Given the description of an element on the screen output the (x, y) to click on. 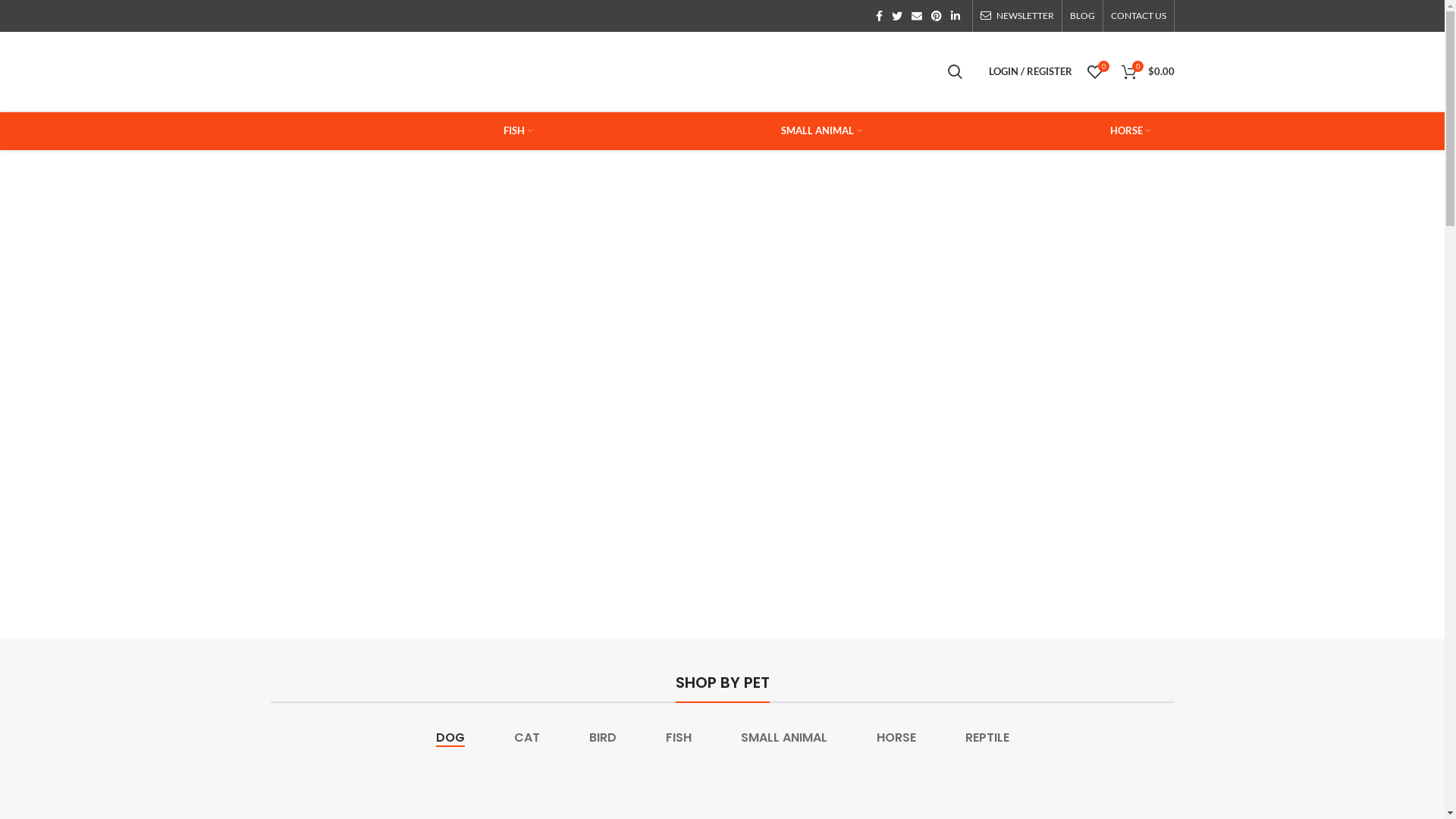
REPTILE Element type: text (986, 737)
HORSE Element type: text (1013, 131)
FISH Element type: text (400, 131)
SALE Element type: text (575, 161)
BLOG Element type: text (1081, 15)
SMALL ANIMAL Element type: text (783, 737)
DOG Element type: text (401, 100)
0
$0.00 Element type: text (1147, 71)
NEWSLETTER Element type: text (1016, 15)
0 Element type: text (1094, 71)
HORSE Element type: text (895, 737)
SMALL ANIMAL Element type: text (704, 131)
CAT Element type: text (526, 737)
BIRD Element type: text (602, 737)
LOGIN / REGISTER Element type: text (1030, 71)
BIRD Element type: text (955, 100)
DOG Element type: text (450, 737)
REPTILE Element type: text (409, 161)
Search Element type: hover (954, 71)
CONTACT US Element type: text (1137, 15)
CAT Element type: text (678, 100)
FISH Element type: text (677, 737)
